Given the description of an element on the screen output the (x, y) to click on. 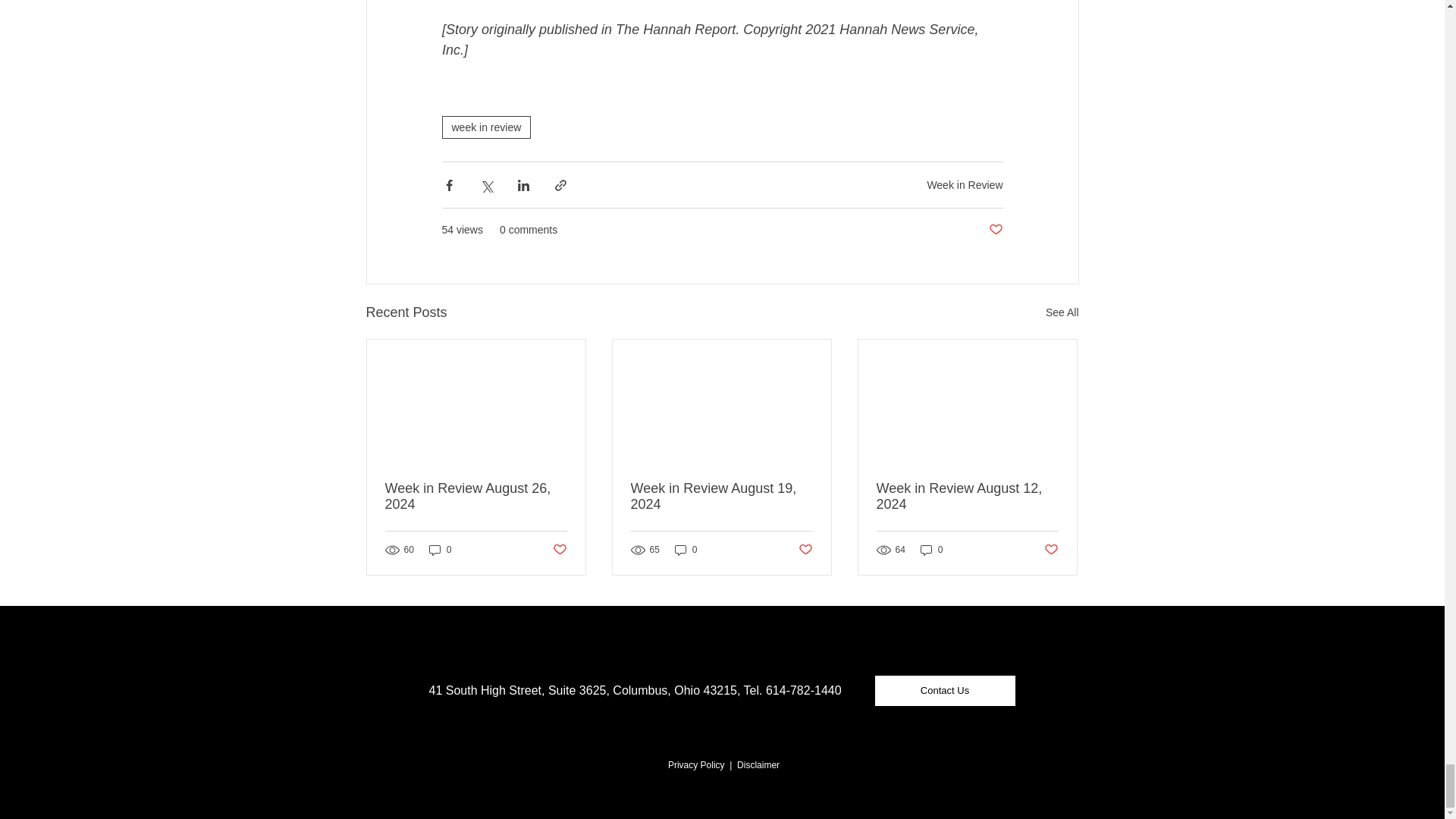
0 (440, 549)
Week in Review August 26, 2024 (476, 496)
See All (1061, 312)
Week in Review (964, 184)
Post not marked as liked (995, 229)
week in review (486, 127)
